Given the description of an element on the screen output the (x, y) to click on. 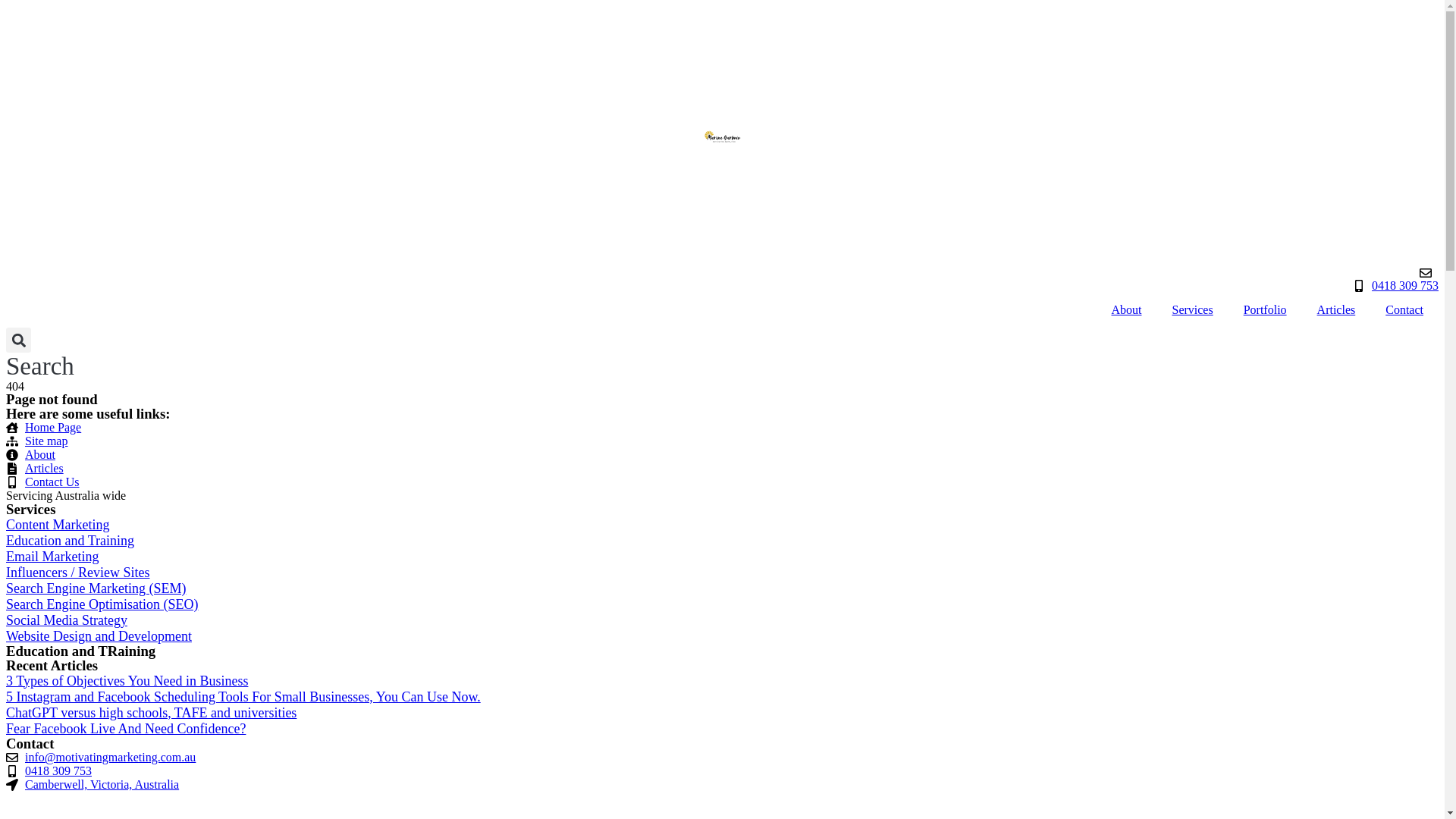
Site map Element type: text (722, 441)
Contact Us Element type: text (722, 482)
Articles Element type: text (1336, 309)
About Element type: text (1125, 309)
info@motivatingmarketing.com.au Element type: text (100, 757)
3 Types of Objectives You Need in Business Element type: text (126, 680)
About Element type: text (722, 454)
Home Page Element type: text (722, 427)
Search Engine Optimisation (SEO) Element type: text (101, 603)
Services Element type: text (1191, 309)
Contact Element type: text (1404, 309)
Portfolio Element type: text (1265, 309)
Camberwell, Victoria, Australia Element type: text (92, 784)
0418 309 753 Element type: text (1395, 285)
Influencers / Review Sites Element type: text (77, 572)
Website Design and Development Element type: text (98, 635)
Articles Element type: text (722, 468)
Fear Facebook Live And Need Confidence? Element type: text (125, 728)
Social Media Strategy Element type: text (66, 619)
Education and Training Element type: text (70, 540)
Email Marketing Element type: text (52, 556)
Content Marketing Element type: text (57, 524)
ChatGPT versus high schools, TAFE and universities Element type: text (151, 712)
Search Engine Marketing (SEM) Element type: text (95, 588)
0418 309 753 Element type: text (48, 771)
